Given the description of an element on the screen output the (x, y) to click on. 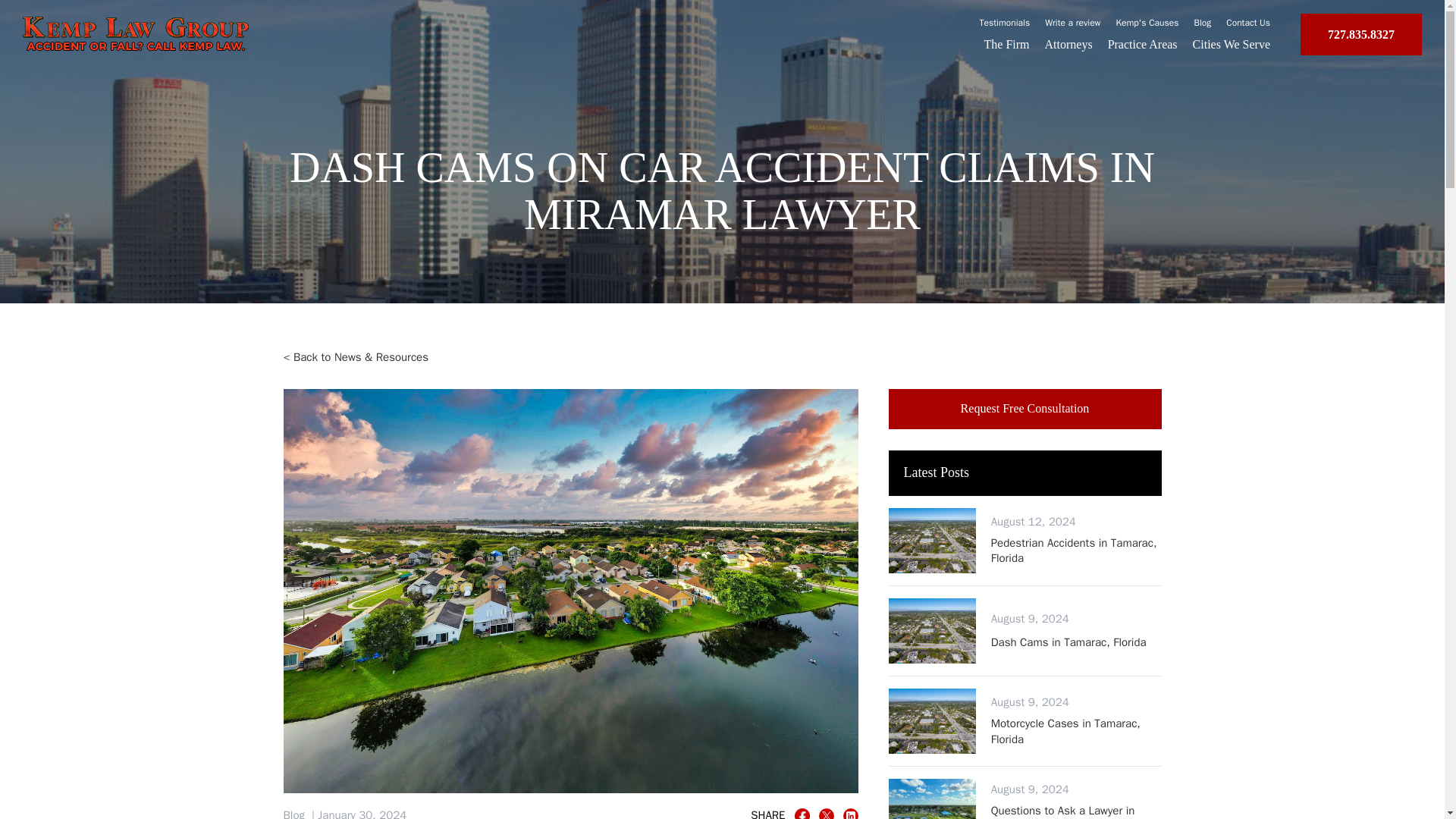
Kemp's Causes (1147, 22)
727.835.8327 (1024, 408)
Pedestrian Accidents in Tamarac, Florida (1361, 34)
Cities We Serve (1076, 550)
Contact Us (1230, 43)
Motorcycle Cases in Tamarac, Florida (1247, 22)
Questions to Ask a Lawyer in Tamarac, Florida (1076, 730)
The Firm (1076, 811)
Share in Facebook (1006, 43)
